Given the description of an element on the screen output the (x, y) to click on. 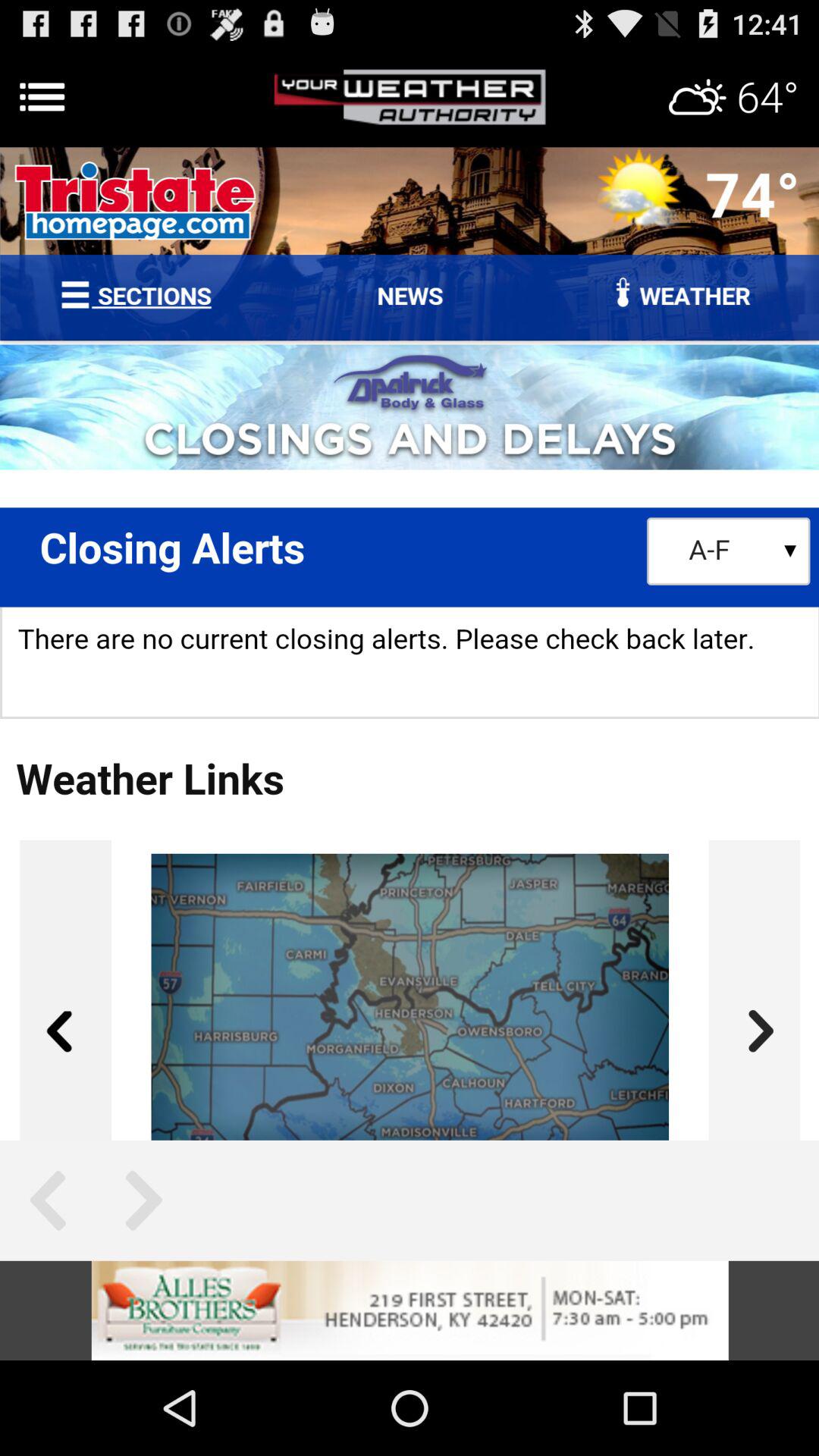
advertisement page (409, 97)
